Given the description of an element on the screen output the (x, y) to click on. 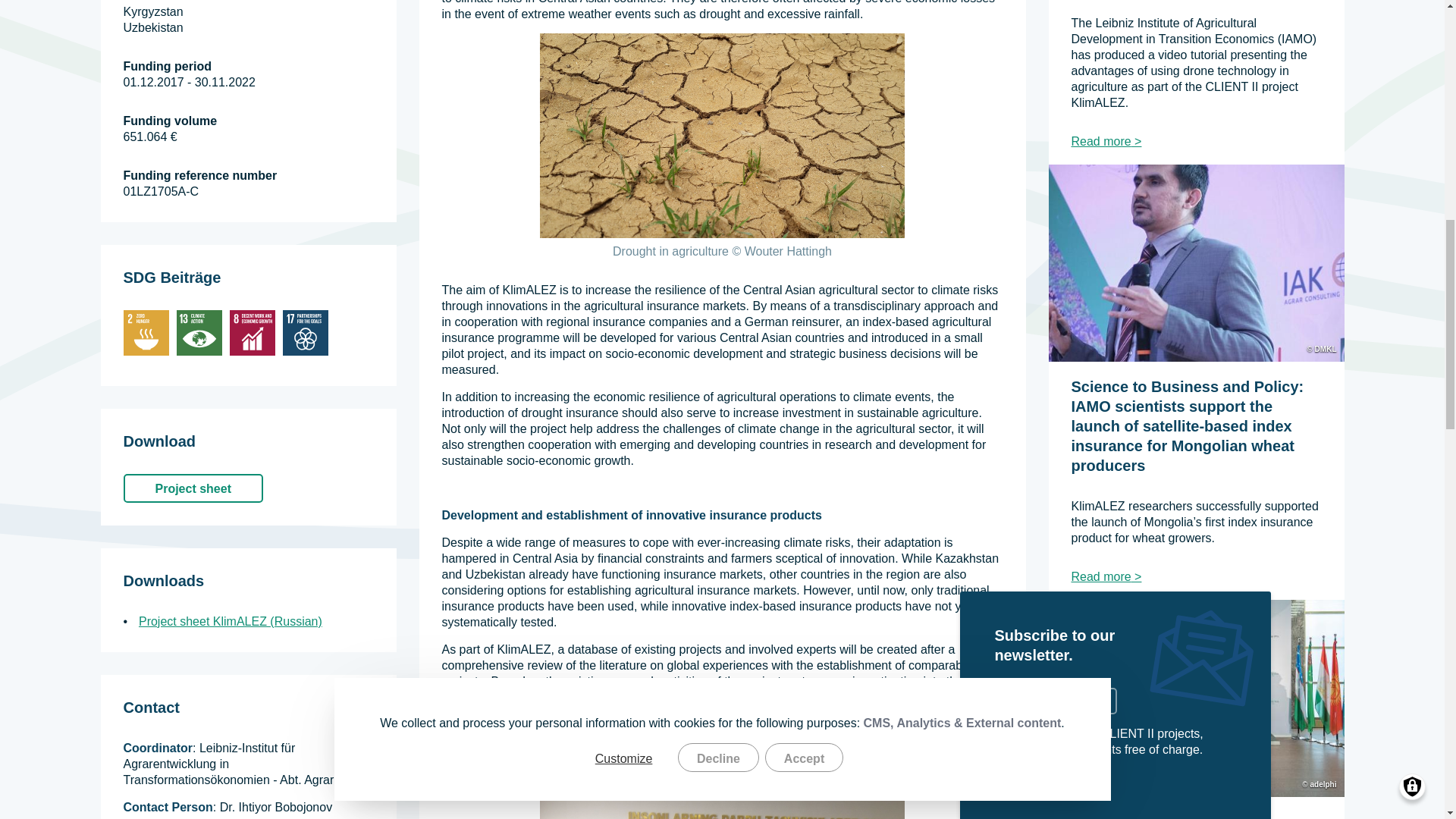
Project sheet (192, 488)
